Given the description of an element on the screen output the (x, y) to click on. 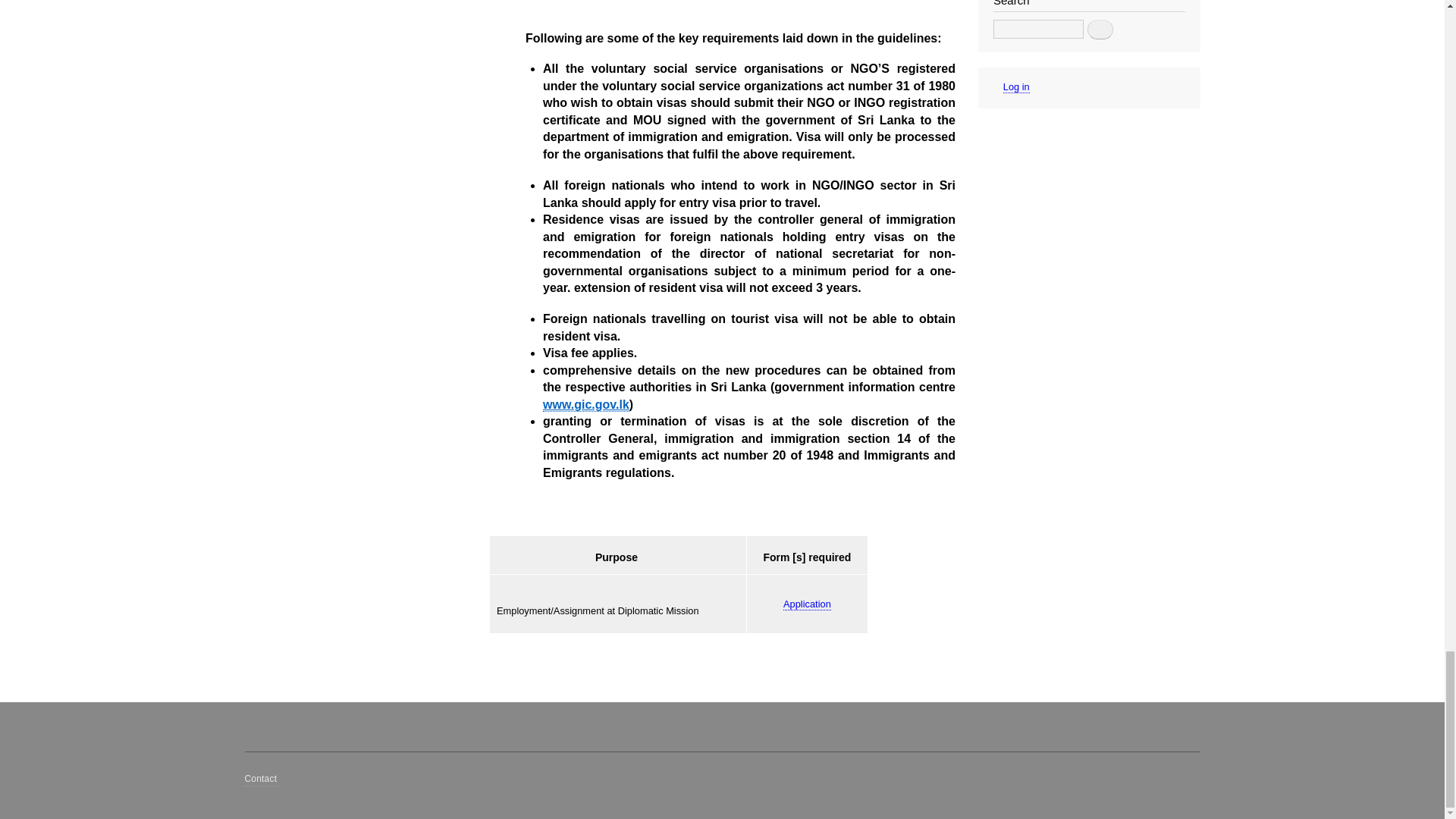
Search (1100, 29)
Search (1100, 29)
Enter the terms you wish to search for. (1037, 28)
